Given the description of an element on the screen output the (x, y) to click on. 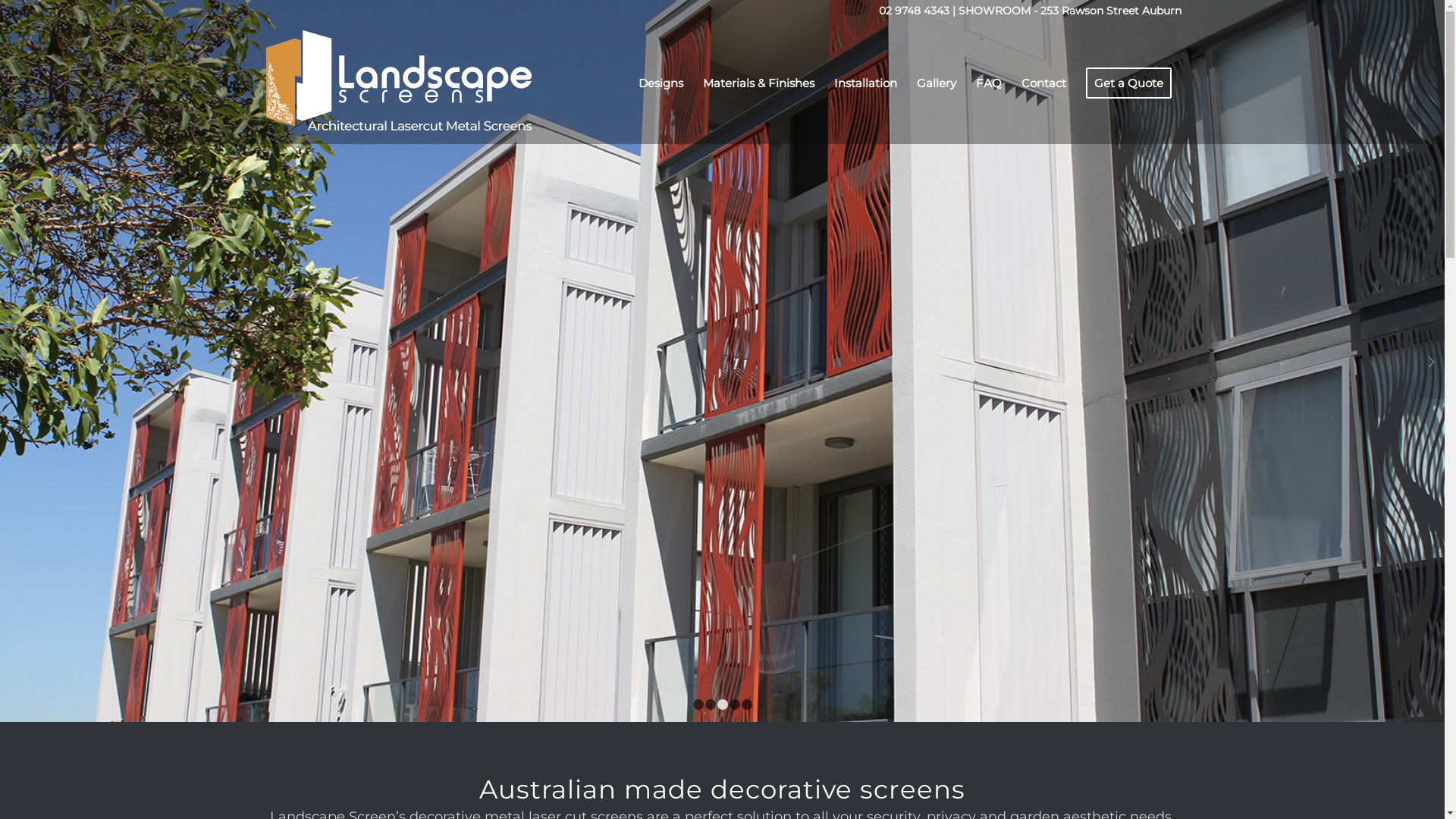
4 Element type: text (734, 704)
2 Element type: text (710, 704)
Contact Element type: text (1043, 83)
Get a Quote Element type: text (1127, 83)
landscape screens logo reverse Element type: hover (398, 83)
FAQ Element type: text (988, 83)
Previous Element type: text (13, 360)
5 Element type: text (746, 704)
Designs Element type: text (659, 83)
Installation Element type: text (864, 83)
Next Element type: text (1431, 360)
Materials & Finishes Element type: text (758, 83)
1 Element type: text (698, 704)
LANDSCAPE-SCREENS5 Element type: hover (722, 361)
Gallery Element type: text (936, 83)
3 Element type: text (722, 704)
